Given the description of an element on the screen output the (x, y) to click on. 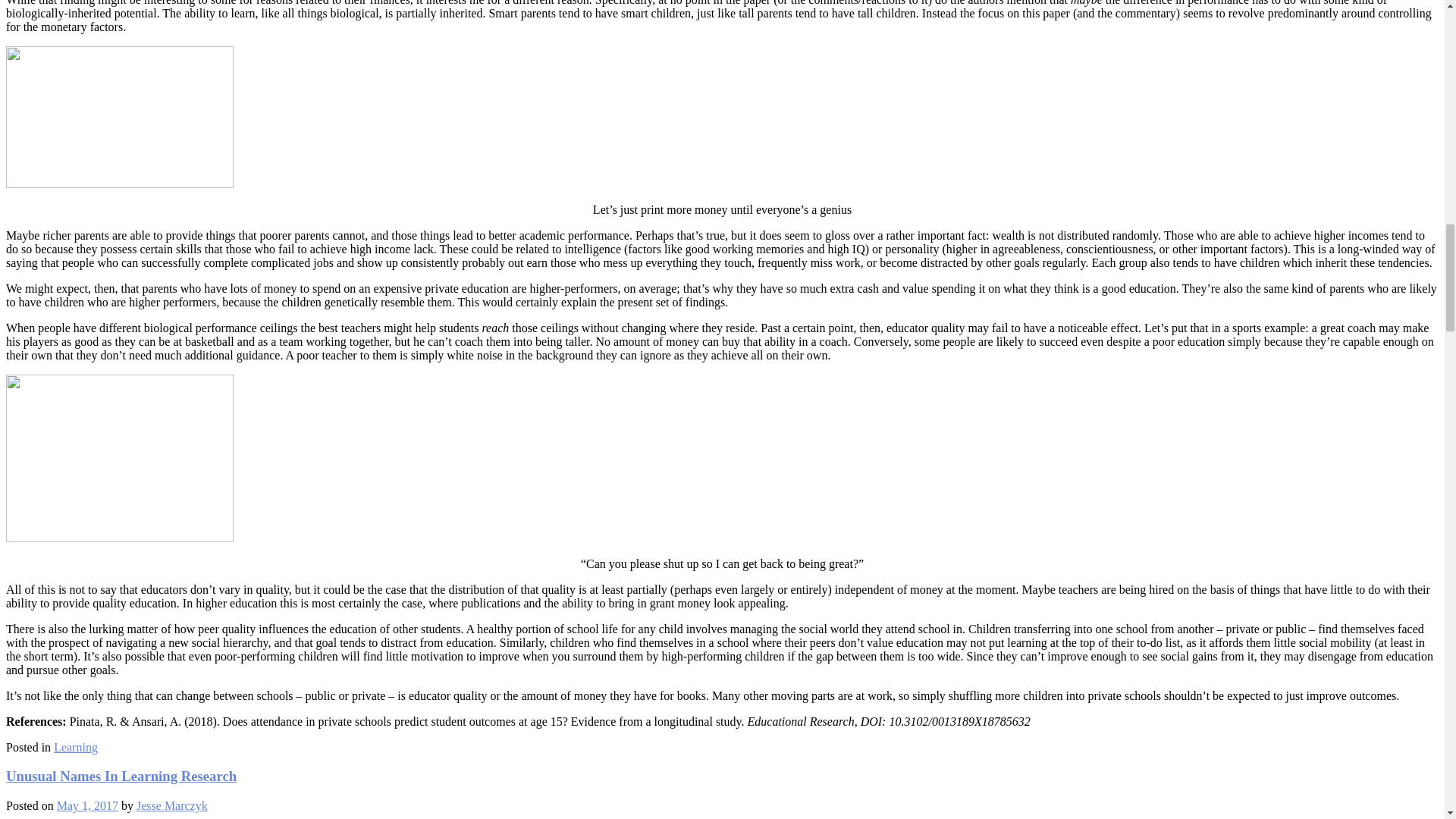
5 (118, 458)
7:38 pm (86, 805)
Jesse Marczyk (172, 805)
View all posts in Learning (75, 747)
Learning (75, 747)
4 (118, 116)
Permalink to Unusual Names In Learning Research (120, 775)
View all posts by Jesse Marczyk (172, 805)
Unusual Names In Learning Research (120, 775)
May 1, 2017 (86, 805)
